Given the description of an element on the screen output the (x, y) to click on. 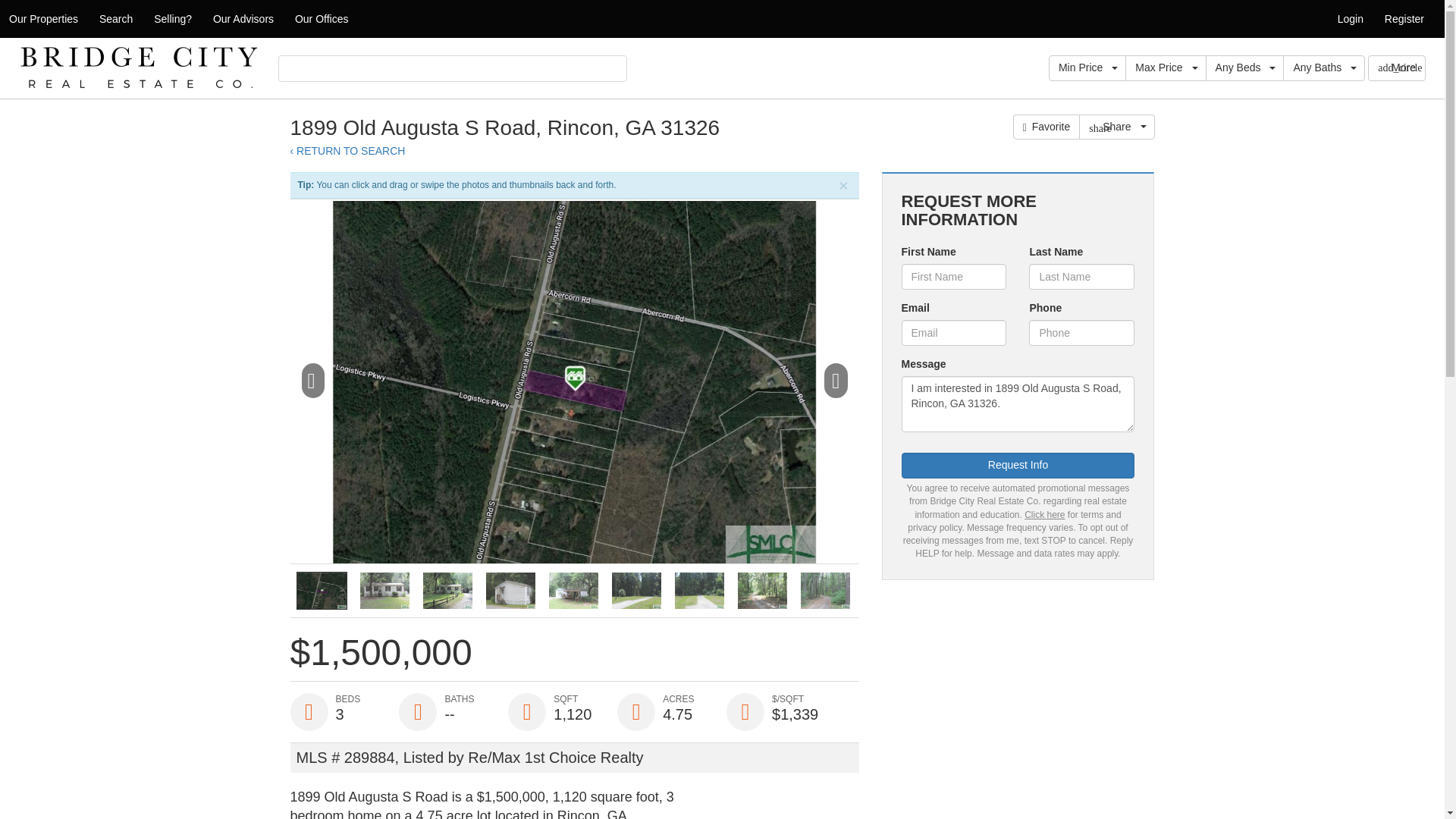
Our Advisors (242, 18)
Login (1350, 18)
Our Properties (43, 18)
Selling? (172, 18)
Register (1403, 18)
Our Offices (321, 18)
Search (115, 18)
Min Price (1086, 68)
